Given the description of an element on the screen output the (x, y) to click on. 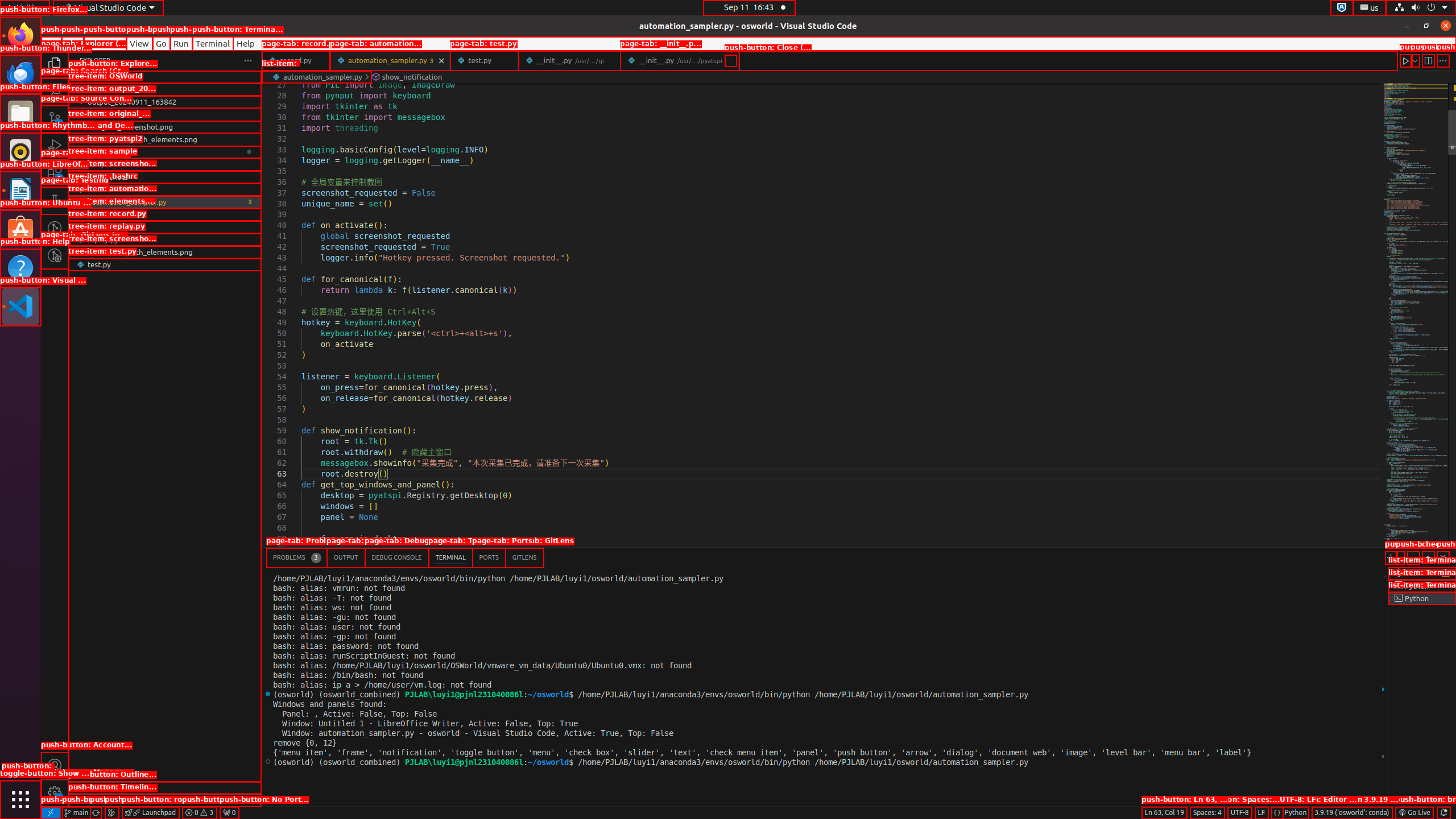
automation_sampler.py Element type: tree-item (164, 201)
rocket gitlens-unplug Launchpad, GitLens Launchpad ᴘʀᴇᴠɪᴇᴡ    &mdash;    [$(question)](command:gitlens.launchpad.indicator.action?%22info%22 "What is this?") [$(gear)](command:workbench.action.openSettings?%22gitlens.launchpad%22 "Settings")  |  [$(circle-slash) Hide](command:gitlens.launchpad.indicator.action?%22hide%22 "Hide") --- [Launchpad](command:gitlens.launchpad.indicator.action?%info%22 "Learn about Launchpad") organizes your pull requests into actionable groups to help you focus and keep your team unblocked. It's always accessible using the `GitLens: Open Launchpad` command from the Command Palette. --- [Connect an integration](command:gitlens.showLaunchpad?%7B%22source%22%3A%22launchpad-indicator%22%7D "Connect an integration") to get started. Element type: push-button (150, 812)
Terminal 2 Python Element type: list-item (1422, 585)
.bashrc Element type: tree-item (164, 189)
Python Element type: push-button (1295, 812)
